Given the description of an element on the screen output the (x, y) to click on. 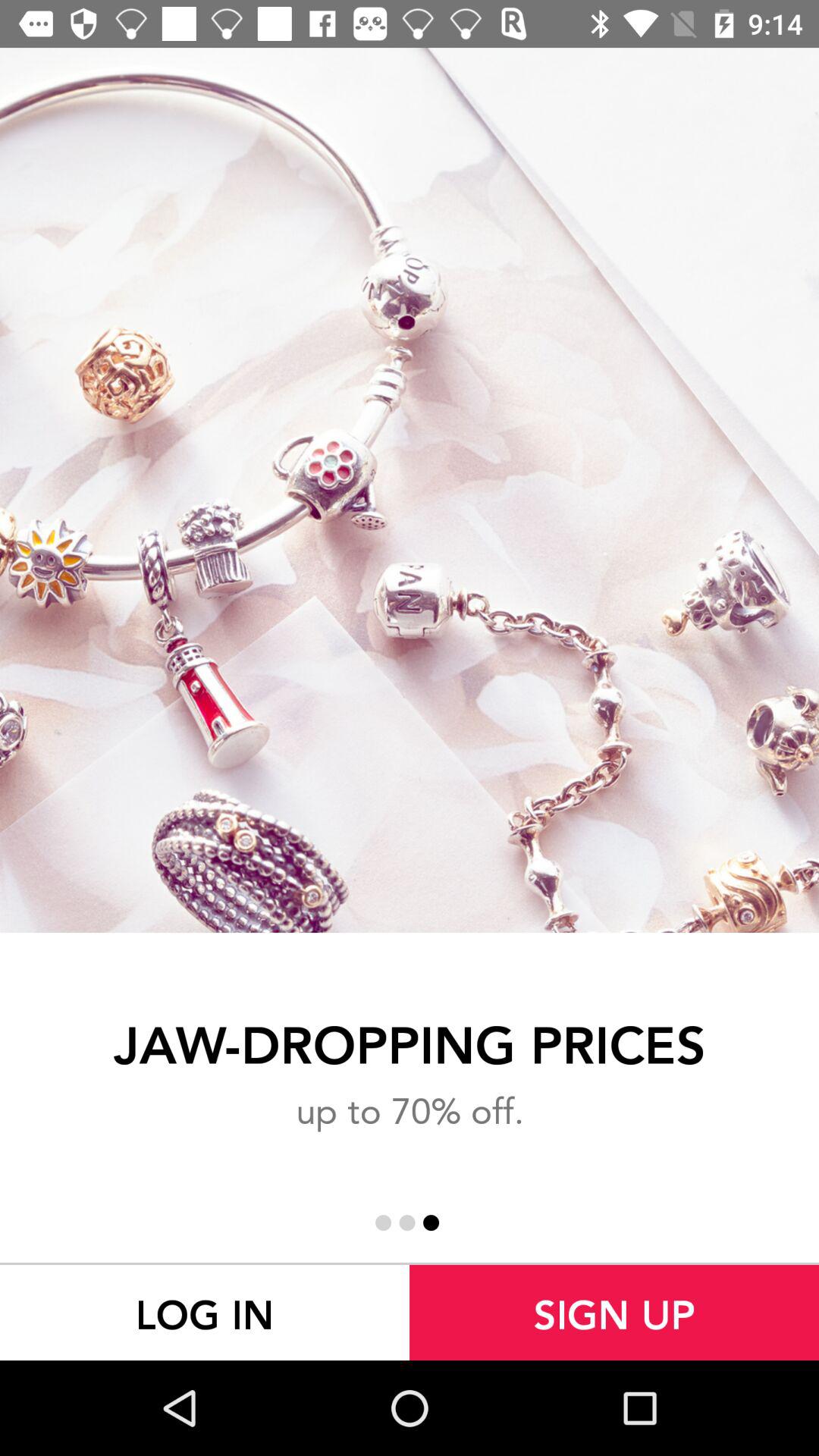
turn on the log in item (204, 1312)
